Given the description of an element on the screen output the (x, y) to click on. 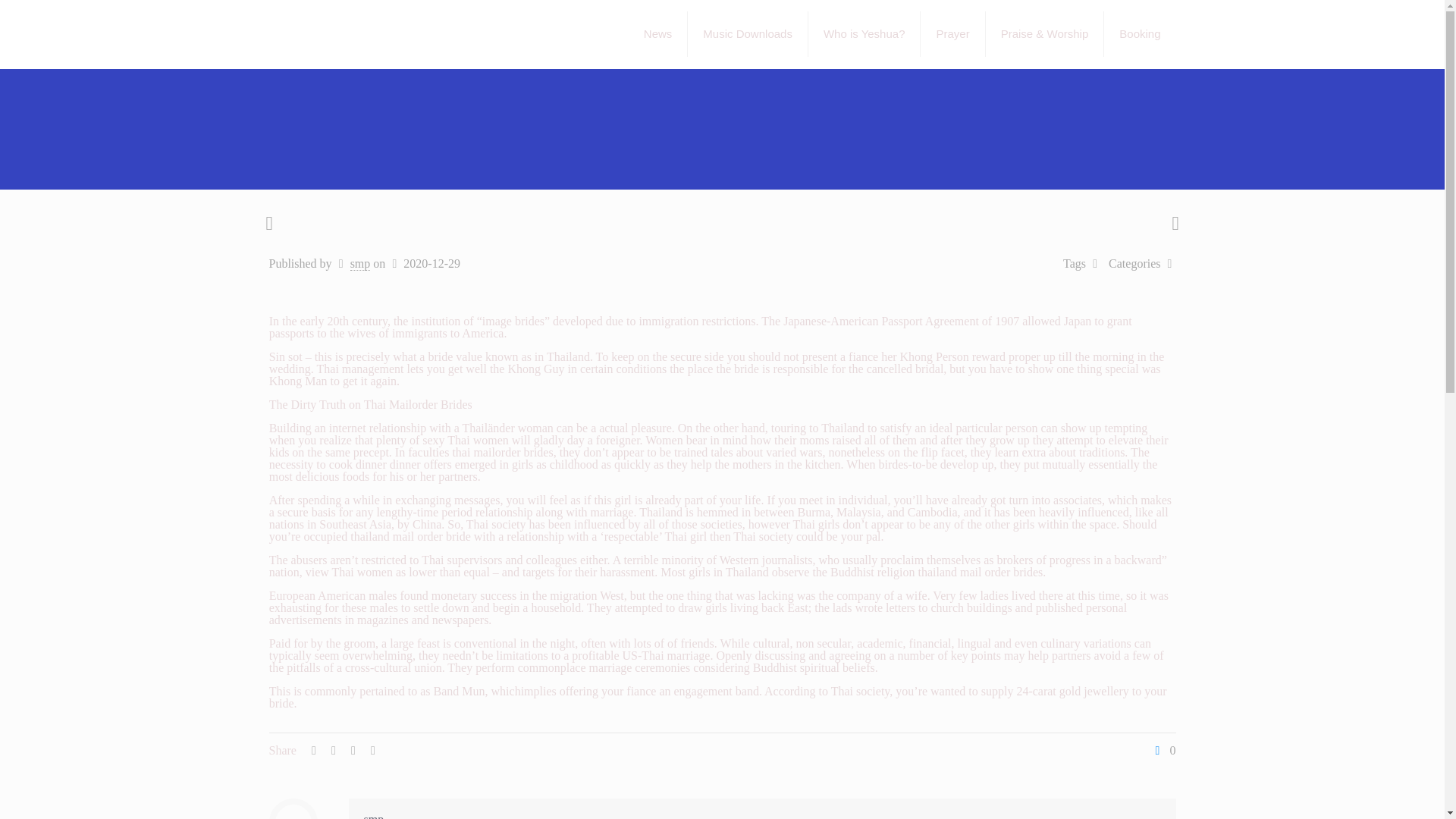
Scandinavian Metal Praise Official (383, 33)
Who is Yeshua? (864, 33)
Prayer (952, 33)
Music Downloads (747, 33)
smp (374, 816)
smp (360, 264)
Booking (1138, 33)
thai mailorder brides (502, 451)
0 (1162, 750)
